Given the description of an element on the screen output the (x, y) to click on. 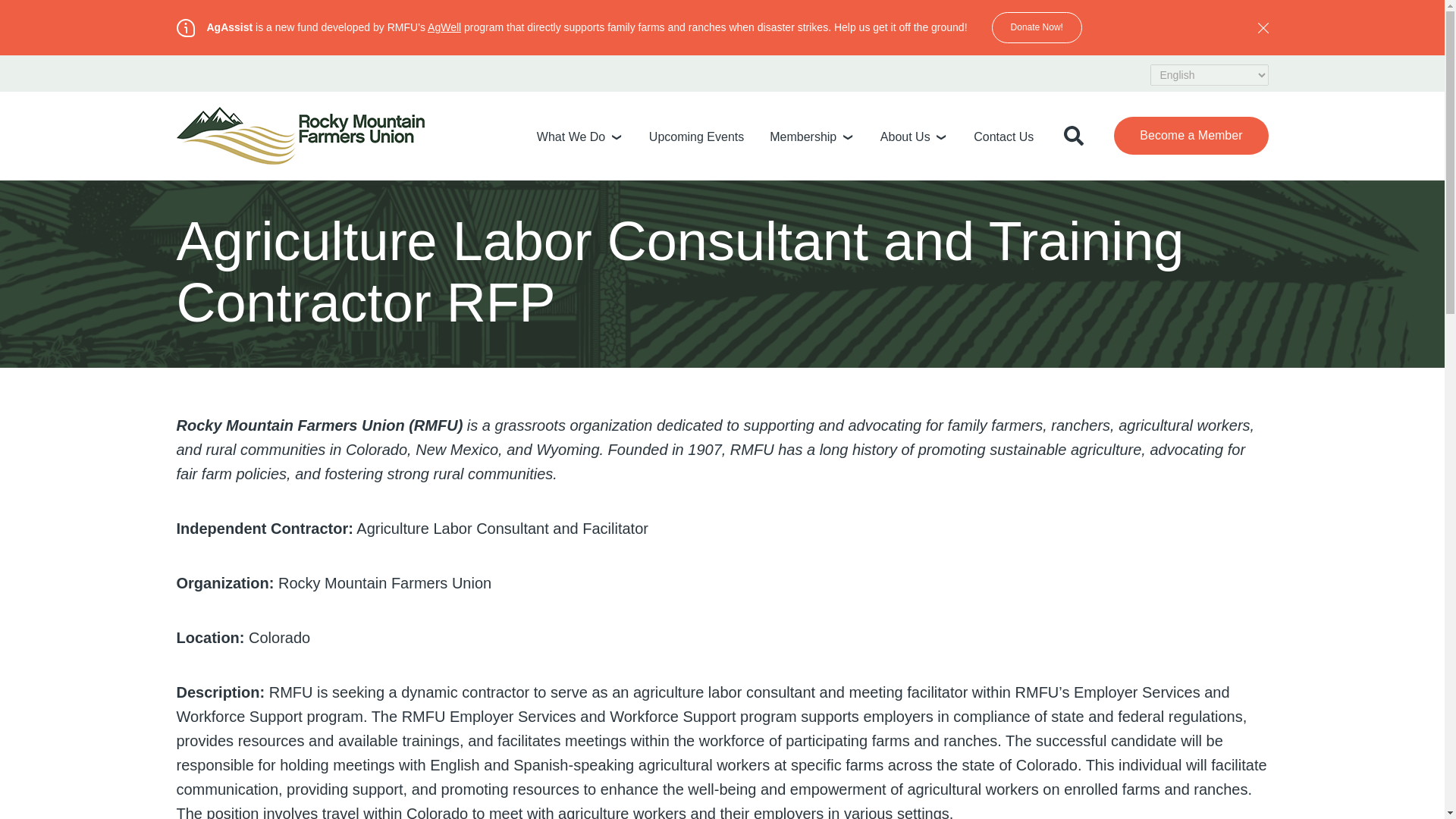
Search (1227, 199)
Upcoming Events (696, 136)
About Us (905, 136)
Contact Us (1003, 136)
Donate Now! (1036, 27)
AgWell (444, 27)
What We Do (571, 136)
Membership (802, 136)
Become a Member (1190, 135)
